Given the description of an element on the screen output the (x, y) to click on. 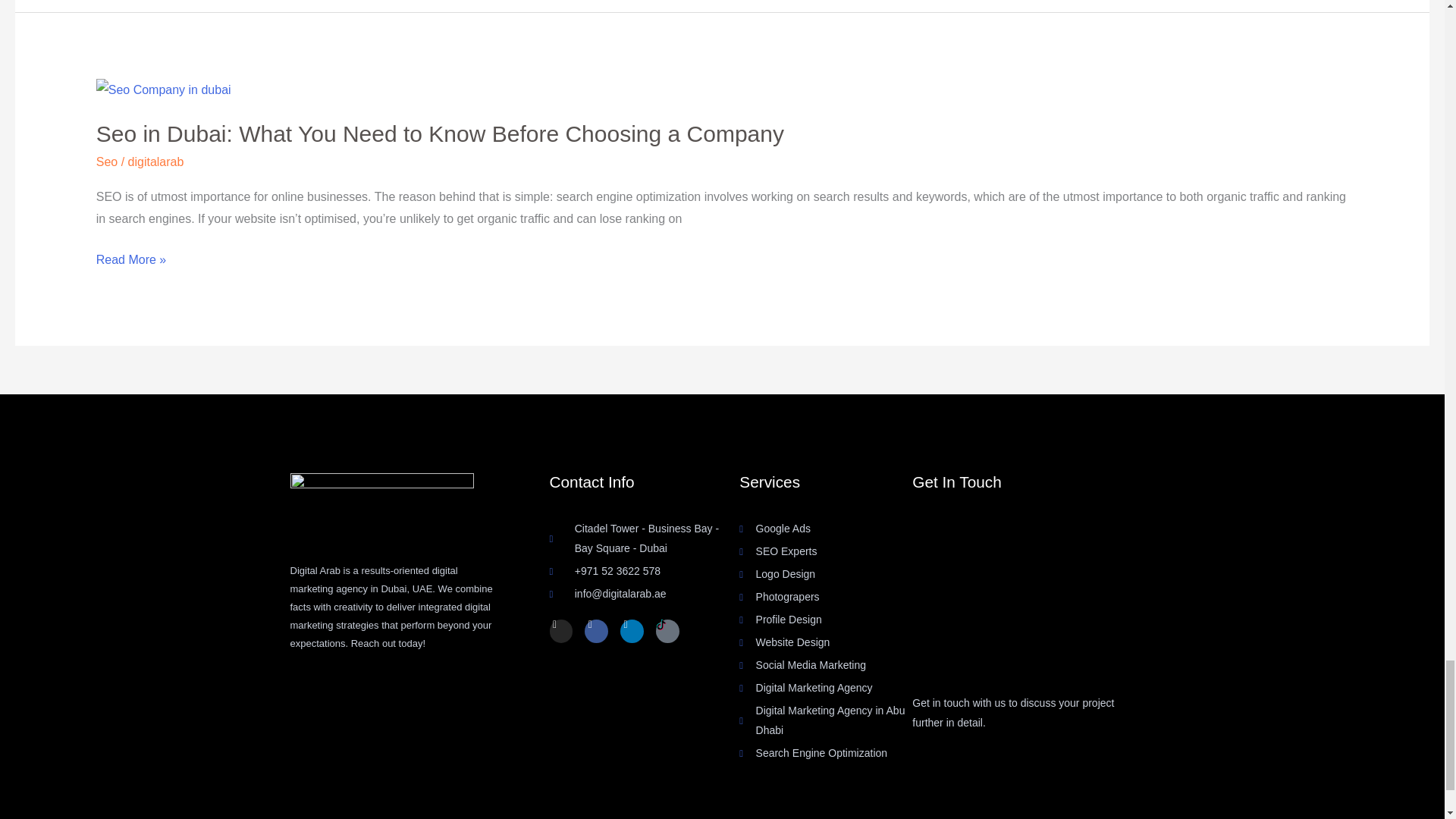
View all posts by digitalarab (156, 161)
